Given the description of an element on the screen output the (x, y) to click on. 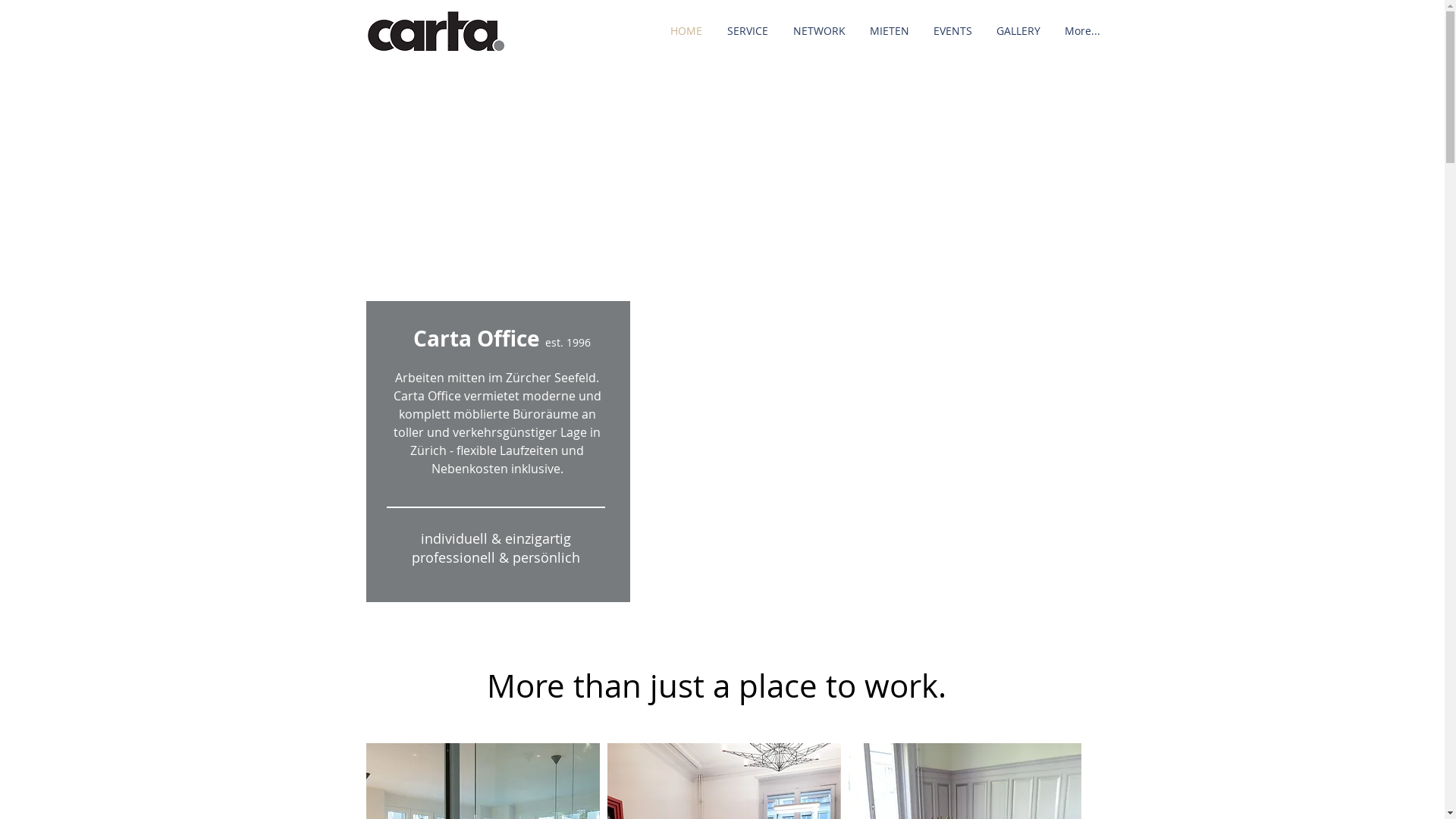
HOME Element type: text (686, 30)
SERVICE Element type: text (747, 30)
EVENTS Element type: text (951, 30)
NETWORK Element type: text (819, 30)
GALLERY Element type: text (1018, 30)
MIETEN Element type: text (888, 30)
